Given the description of an element on the screen output the (x, y) to click on. 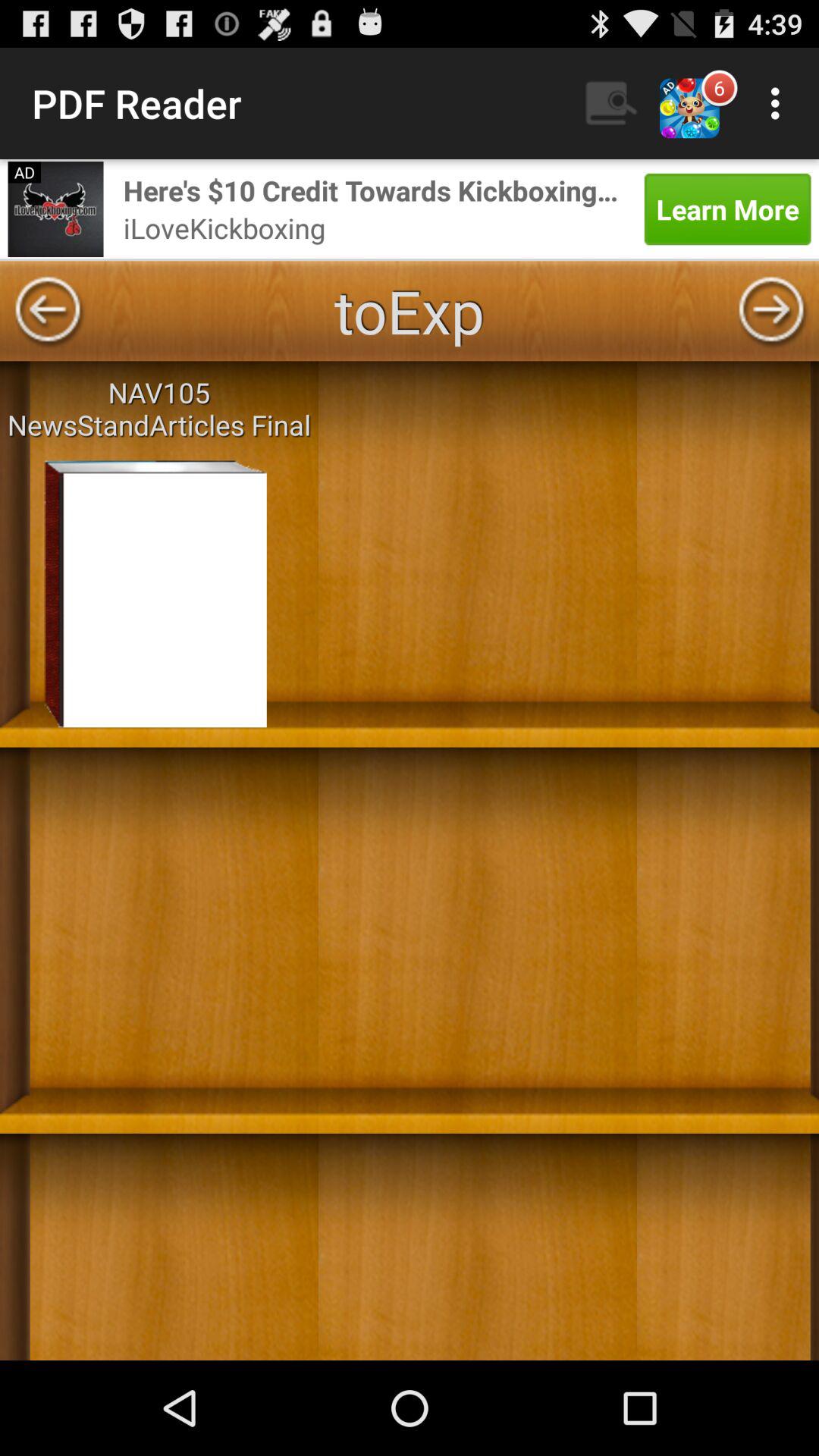
button 'next (771, 310)
